Given the description of an element on the screen output the (x, y) to click on. 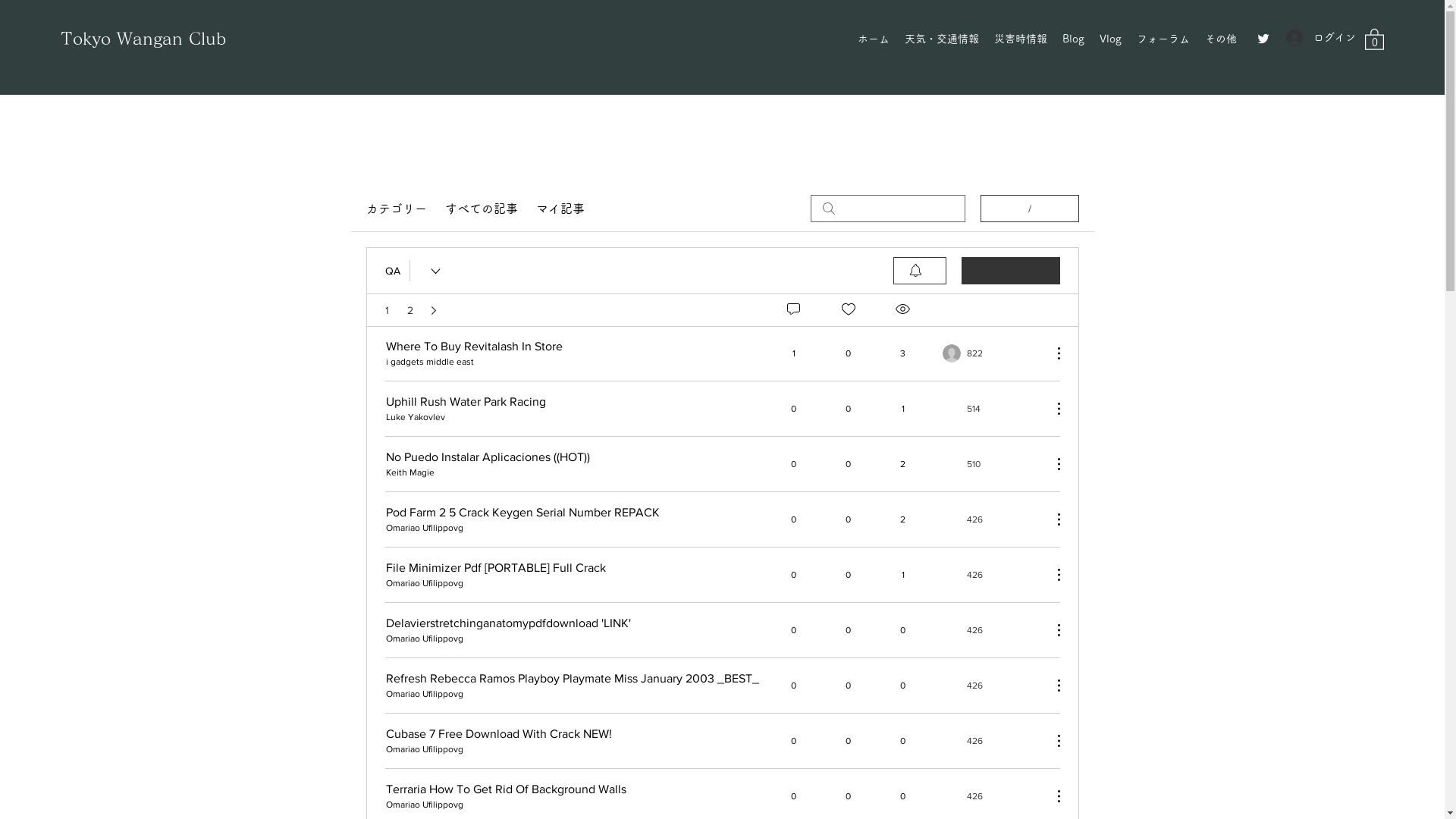
Vlog Element type: text (1110, 38)
Blog Element type: text (1073, 38)
No Puedo Instalar Aplicaciones ((HOT)) Element type: text (487, 456)
Luke Yakovlev Element type: text (414, 417)
Uphill Rush Water Park Racing Element type: text (465, 400)
Omariao Ufilippovg Element type: text (423, 638)
Omariao Ufilippovg Element type: text (423, 693)
1 Element type: text (387, 310)
Omariao Ufilippovg Element type: text (423, 527)
2 Element type: text (409, 310)
Keith Magie Element type: text (409, 472)
Delavierstretchinganatomypdfdownload 'LINK' Element type: text (507, 622)
Tokyo Wangan Club Element type: text (142, 38)
Omariao Ufilippovg Element type: text (423, 583)
Cubase 7 Free Download With Crack NEW! Element type: text (498, 733)
Terraria How To Get Rid Of Background Walls Element type: text (505, 788)
i gadgets middle east Element type: text (429, 361)
File Minimizer Pdf [PORTABLE] Full Crack Element type: text (495, 567)
Omariao Ufilippovg Element type: text (423, 749)
Pod Farm 2 5 Crack Keygen Serial Number REPACK Element type: text (521, 511)
Where To Buy Revitalash In Store Element type: text (473, 345)
0 Element type: text (1374, 38)
Omariao Ufilippovg Element type: text (423, 804)
